Given the description of an element on the screen output the (x, y) to click on. 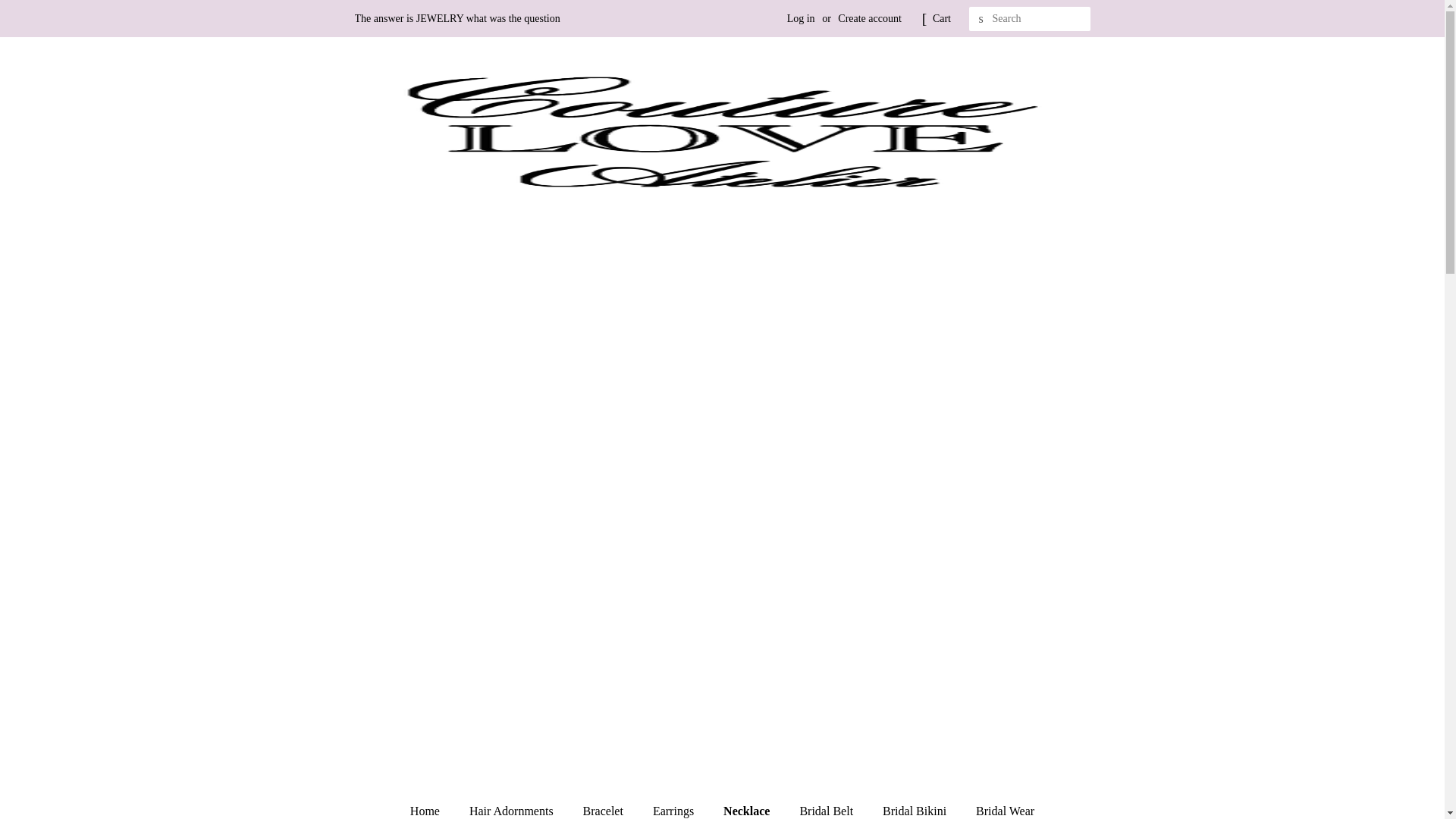
Necklace (747, 807)
Cart (941, 18)
Bridal Bikini (915, 807)
Bridal Belt (827, 807)
Earrings (675, 807)
Create account (869, 18)
Hair Adornments (513, 807)
Bridal Wear (998, 807)
Log in (801, 18)
Bracelet (605, 807)
The answer is JEWELRY what was the question (457, 18)
Search (980, 18)
Home (432, 807)
